Given the description of an element on the screen output the (x, y) to click on. 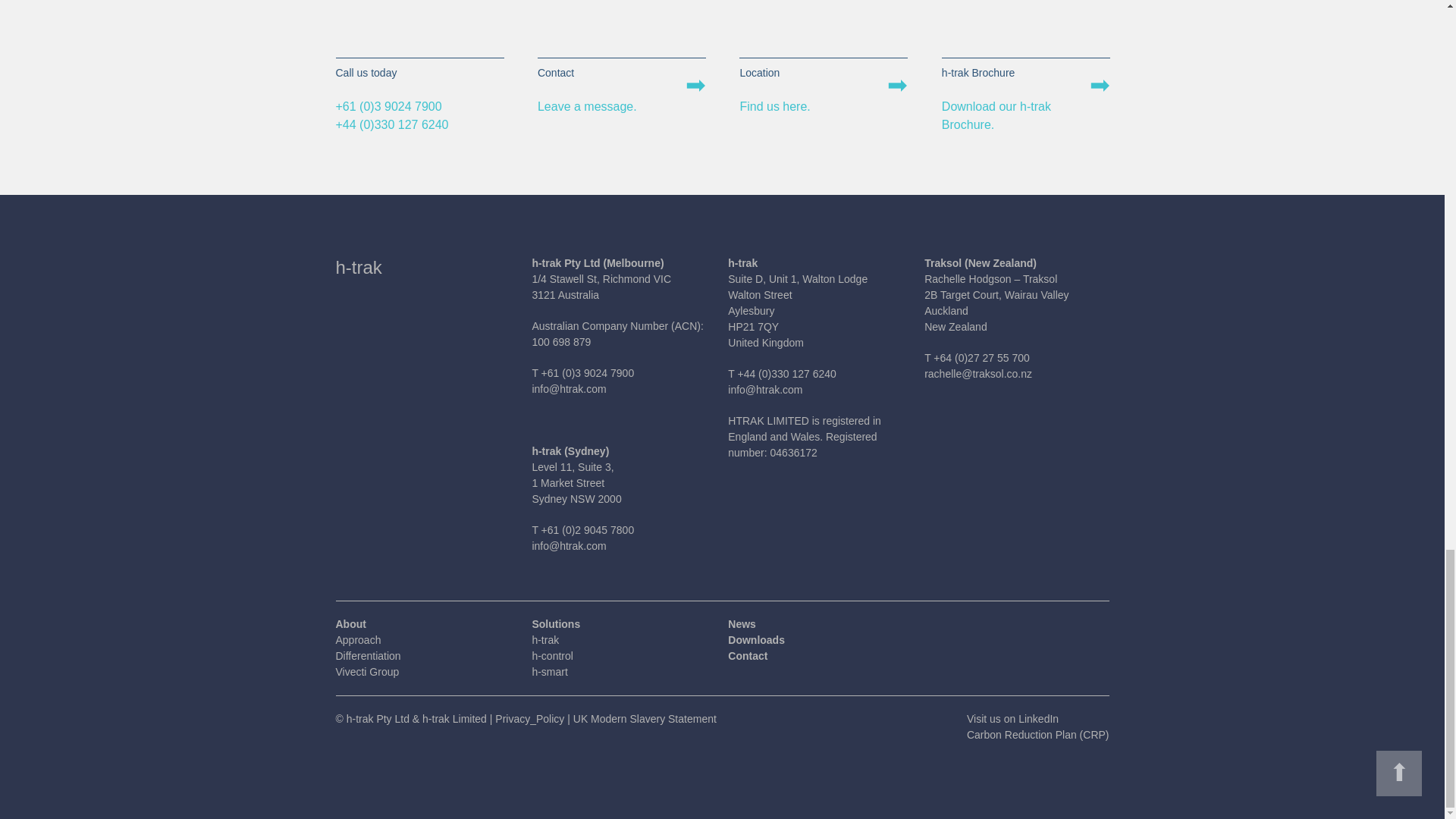
h-smart (549, 671)
Vivecti Group (366, 671)
Solutions (555, 623)
Differentiation (367, 655)
Visit us on LinkedIn (1012, 718)
Approach (357, 639)
UK Modern Slavery Statement (644, 718)
h-trak (545, 639)
Contact (1025, 67)
